Given the description of an element on the screen output the (x, y) to click on. 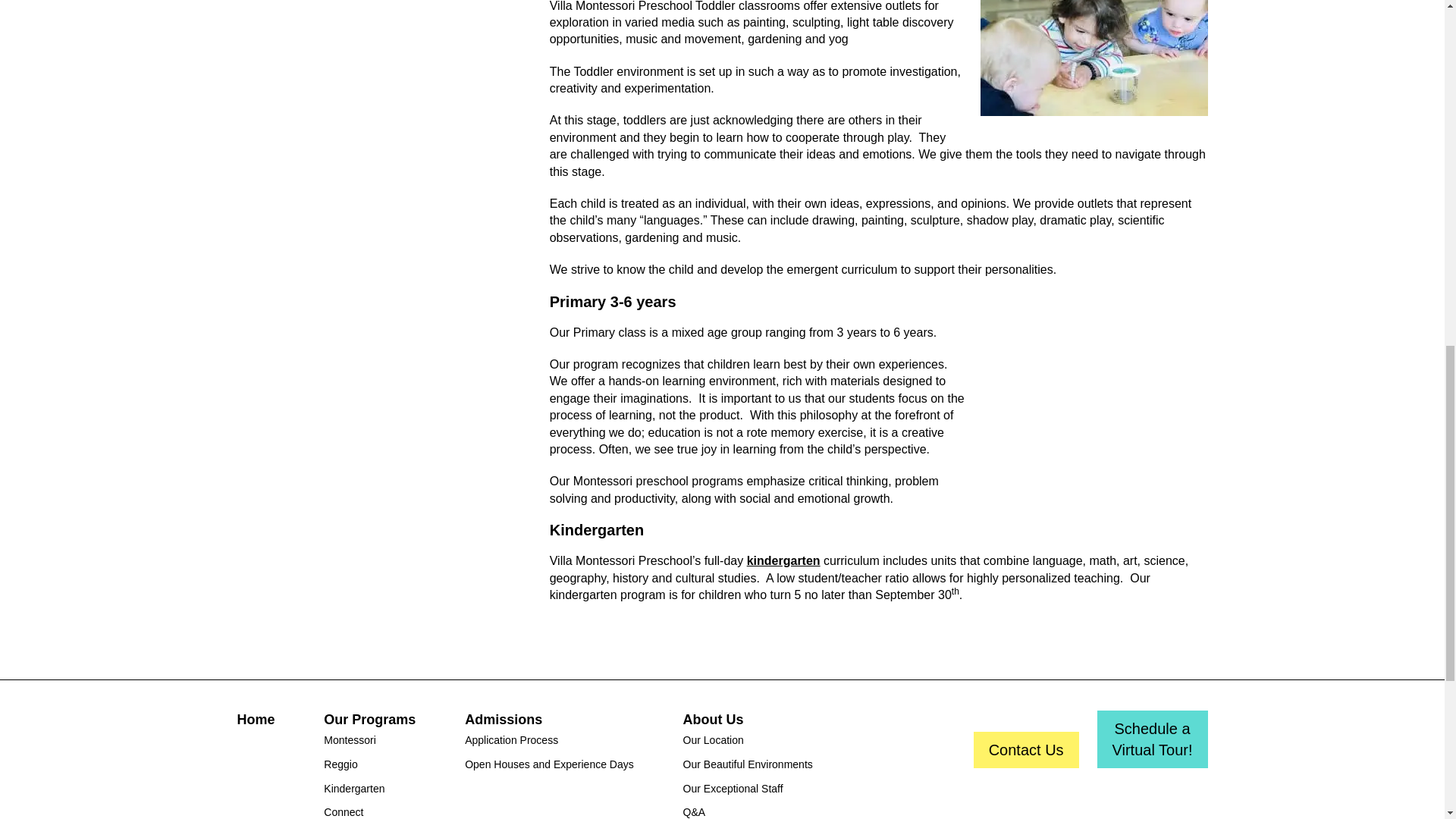
Our Programs (1093, 58)
Our Programs (368, 721)
Reggio (368, 766)
Montessori (368, 742)
Our Programs (1093, 441)
Home (255, 721)
kindergarten (783, 560)
